Given the description of an element on the screen output the (x, y) to click on. 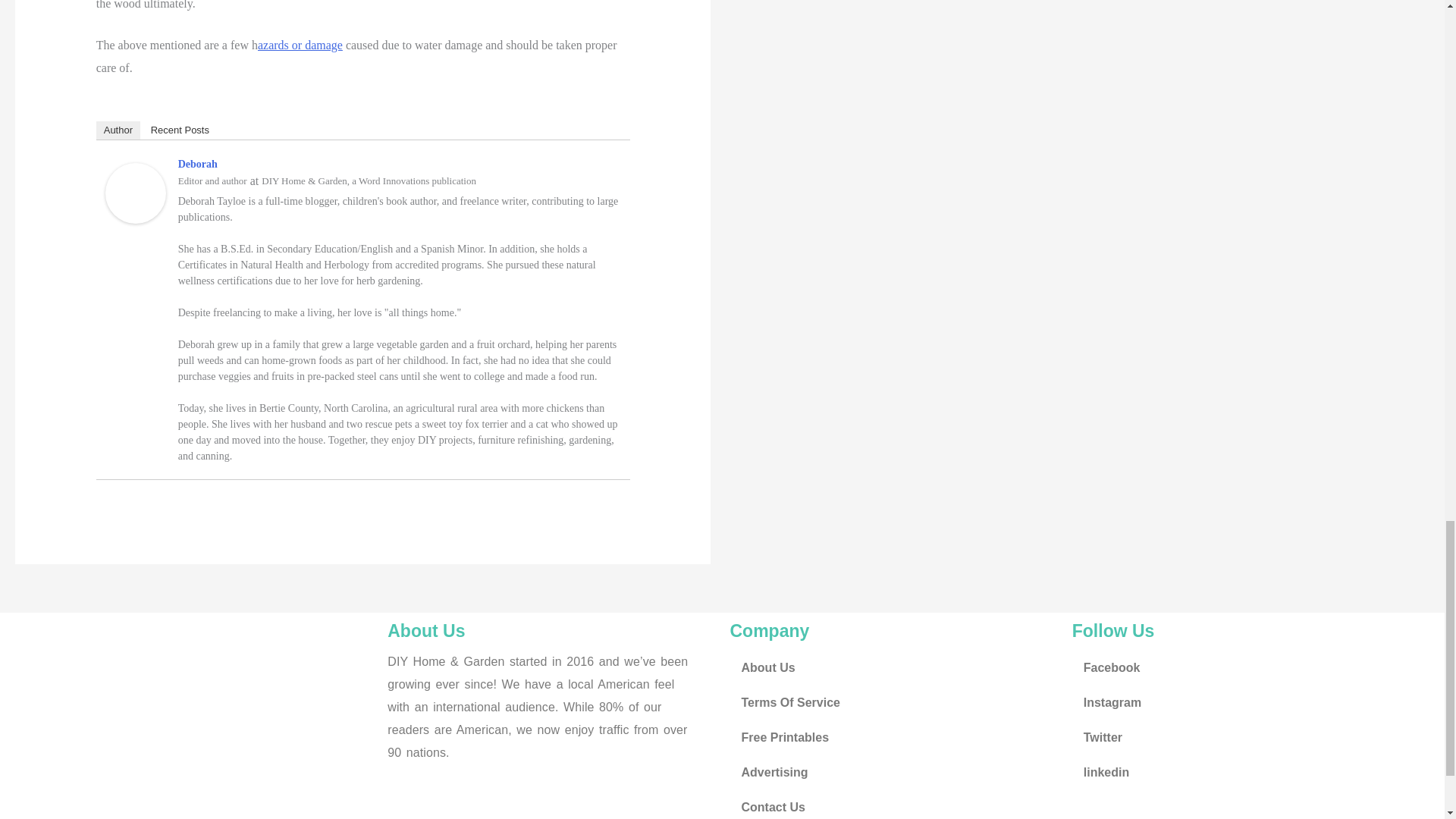
Facebook (1235, 667)
About Us (893, 667)
Advertising (893, 772)
Terms Of Service (893, 702)
Deborah (196, 163)
Twitter (1235, 737)
Free Printables (893, 737)
Author (117, 130)
Deborah (134, 192)
azards or damage (299, 44)
Recent Posts (179, 130)
Contact Us (893, 804)
Instagram (1235, 702)
